Given the description of an element on the screen output the (x, y) to click on. 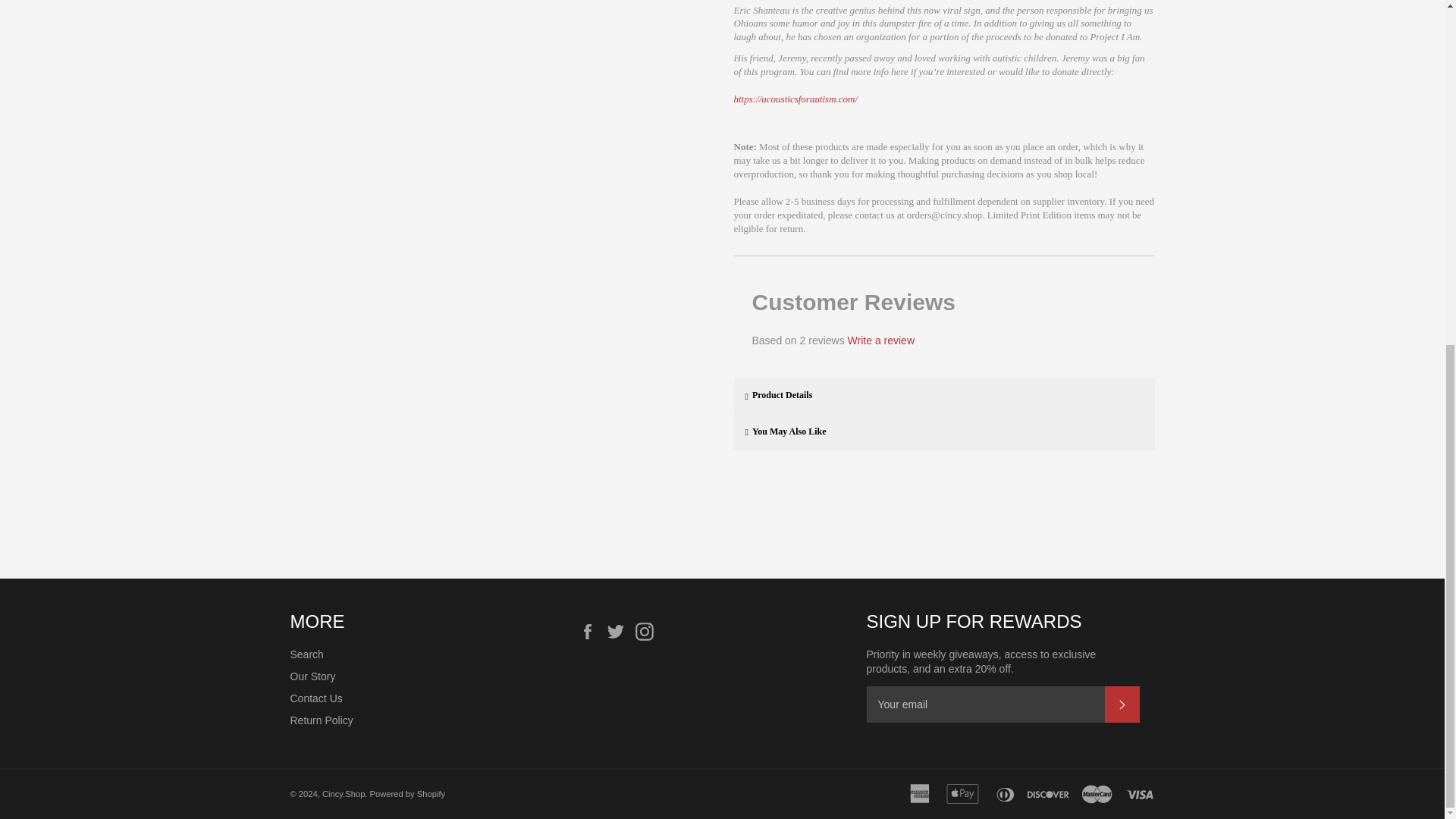
Cincy.Shop on Instagram (647, 631)
Cincy.Shop on Facebook (591, 631)
Cincy.Shop on Twitter (619, 631)
